Given the description of an element on the screen output the (x, y) to click on. 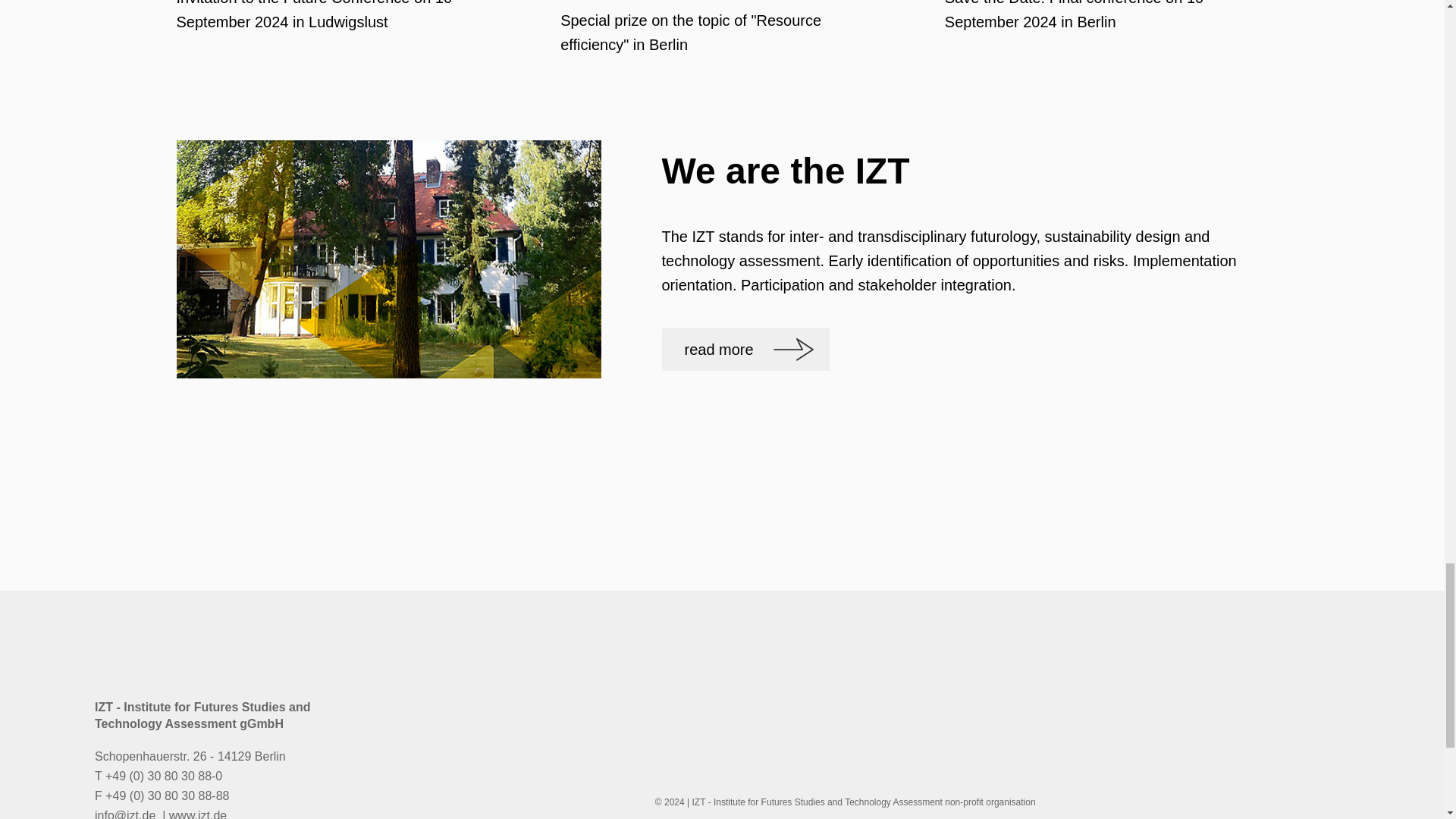
Elbe Valley: Laboratory of the future (337, 39)
Appreciation of biodiversity (1106, 39)
Meeting of the Jugend forscht award winners (721, 39)
